Given the description of an element on the screen output the (x, y) to click on. 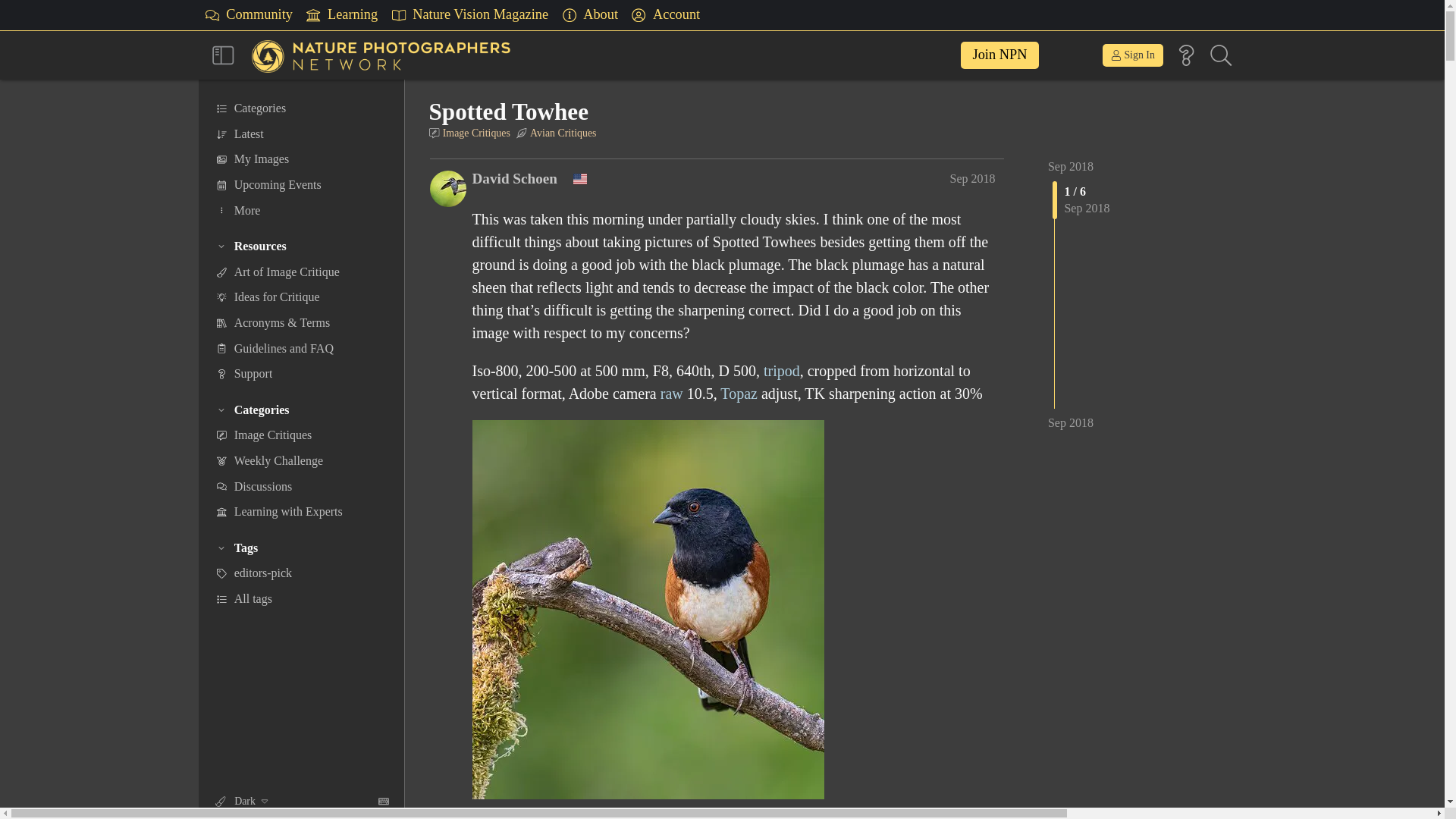
Community (248, 15)
Learning (341, 15)
Nature Vision Magazine (469, 15)
Learning with Experts (341, 15)
About (589, 15)
Community (248, 15)
